Given the description of an element on the screen output the (x, y) to click on. 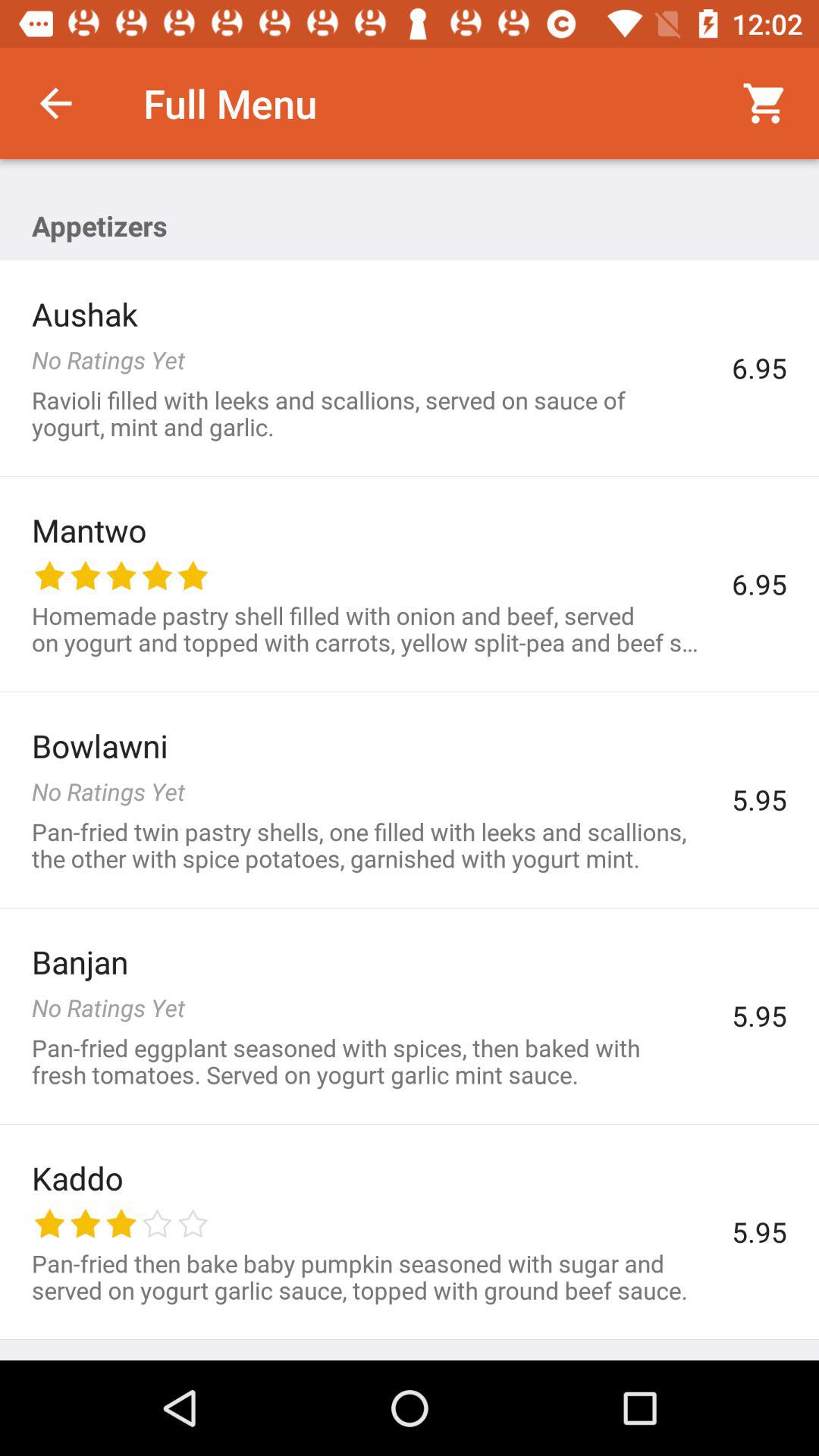
select icon next to full menu item (55, 103)
